Given the description of an element on the screen output the (x, y) to click on. 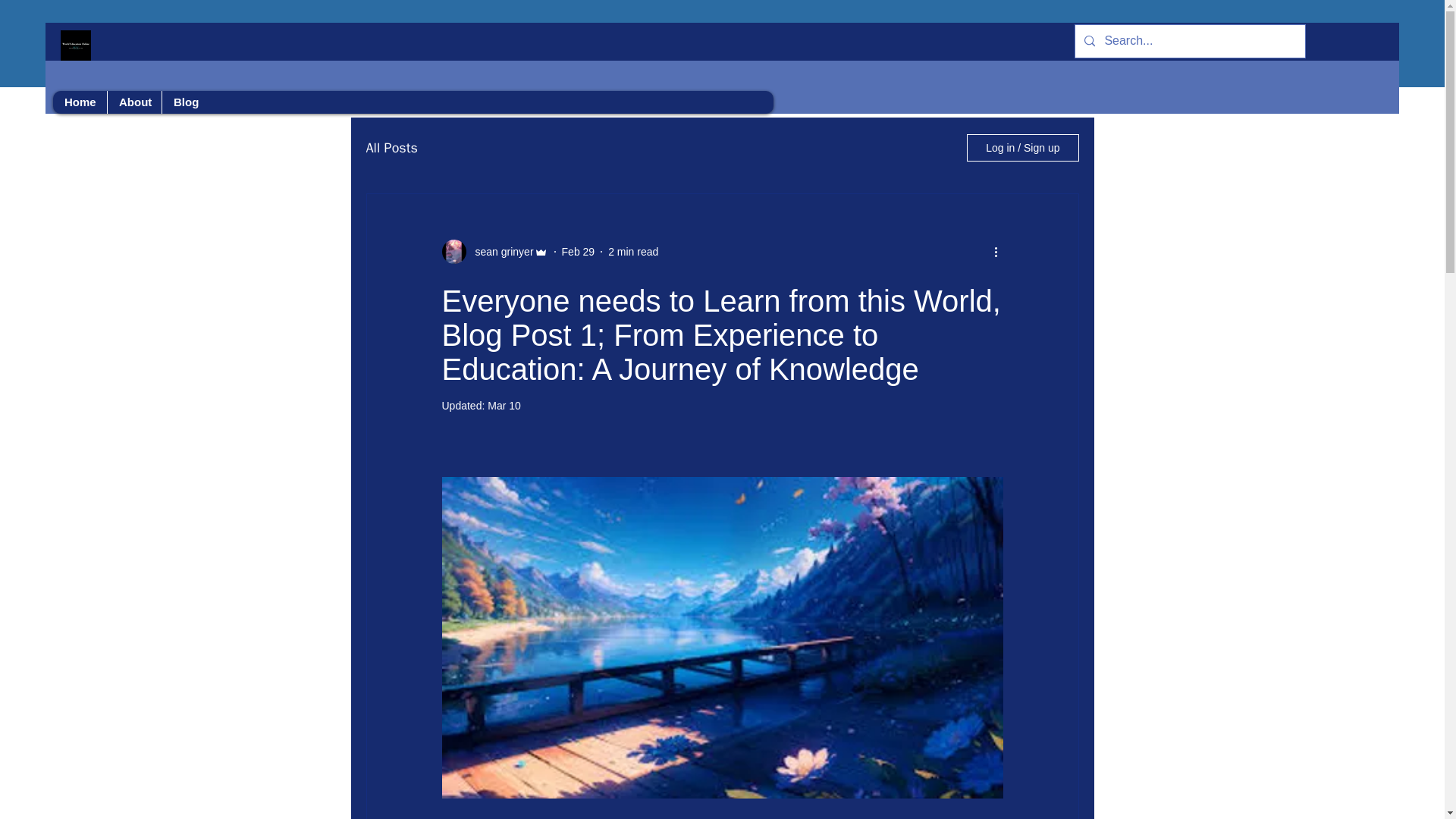
Mar 10 (504, 405)
sean grinyer (498, 252)
About (133, 101)
Blog (184, 101)
All Posts (390, 147)
Feb 29 (578, 251)
2 min read (633, 251)
Home (79, 101)
